Given the description of an element on the screen output the (x, y) to click on. 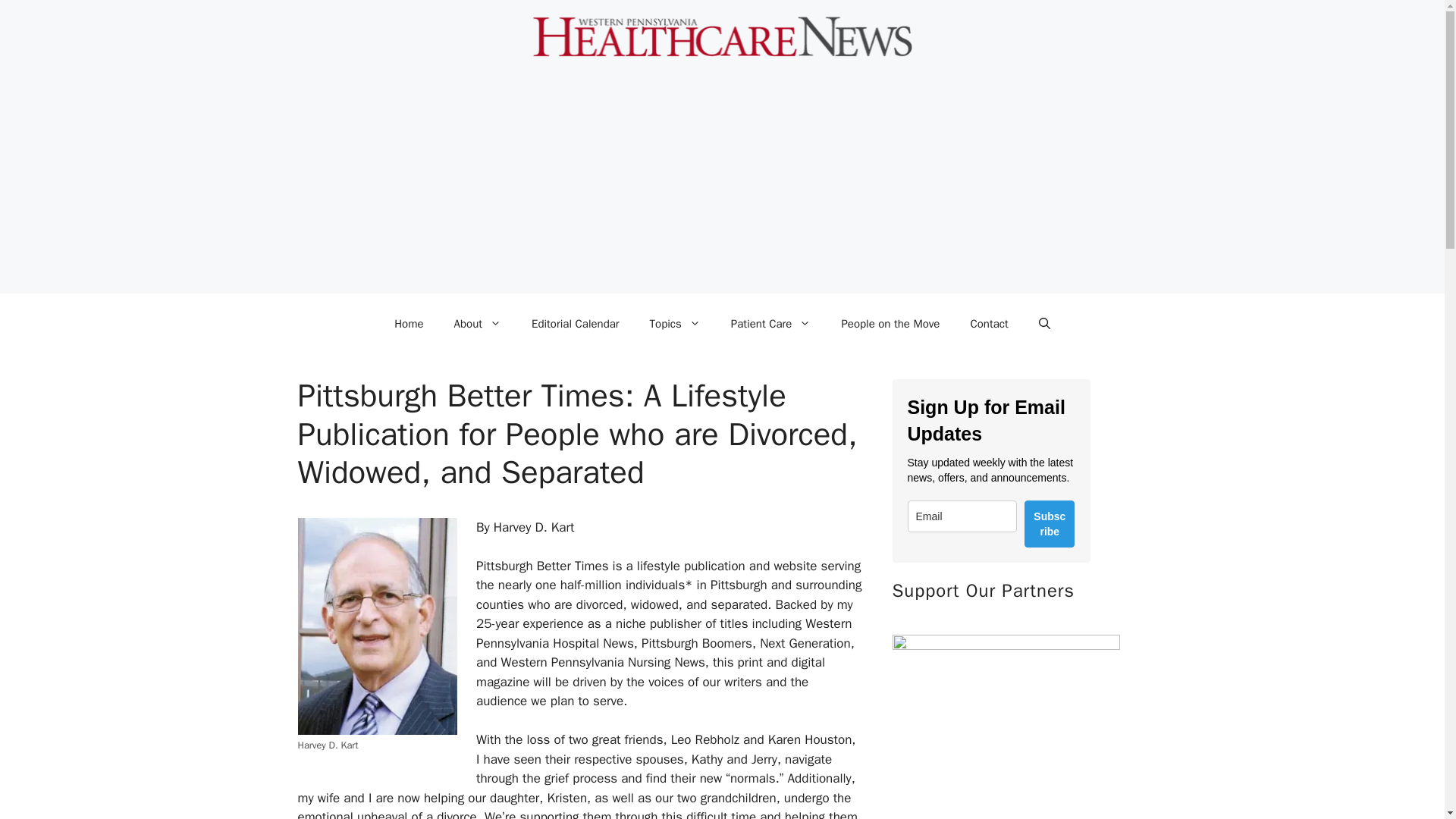
Home (408, 323)
Editorial Calendar (575, 323)
Patient Care (771, 323)
Topics (675, 323)
About (477, 323)
People on the Move (890, 323)
Contact (989, 323)
